Given the description of an element on the screen output the (x, y) to click on. 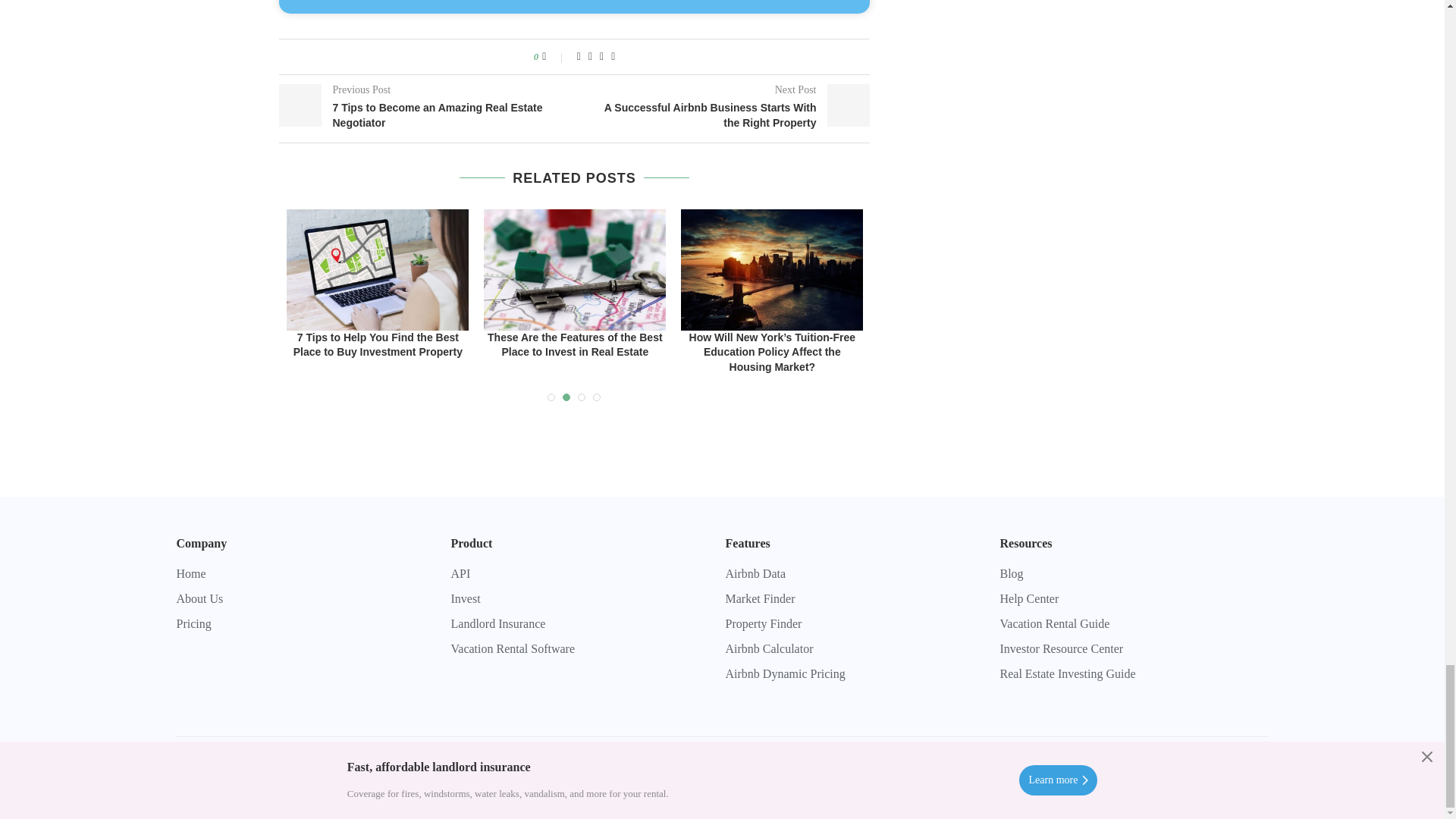
Like (553, 56)
